Given the description of an element on the screen output the (x, y) to click on. 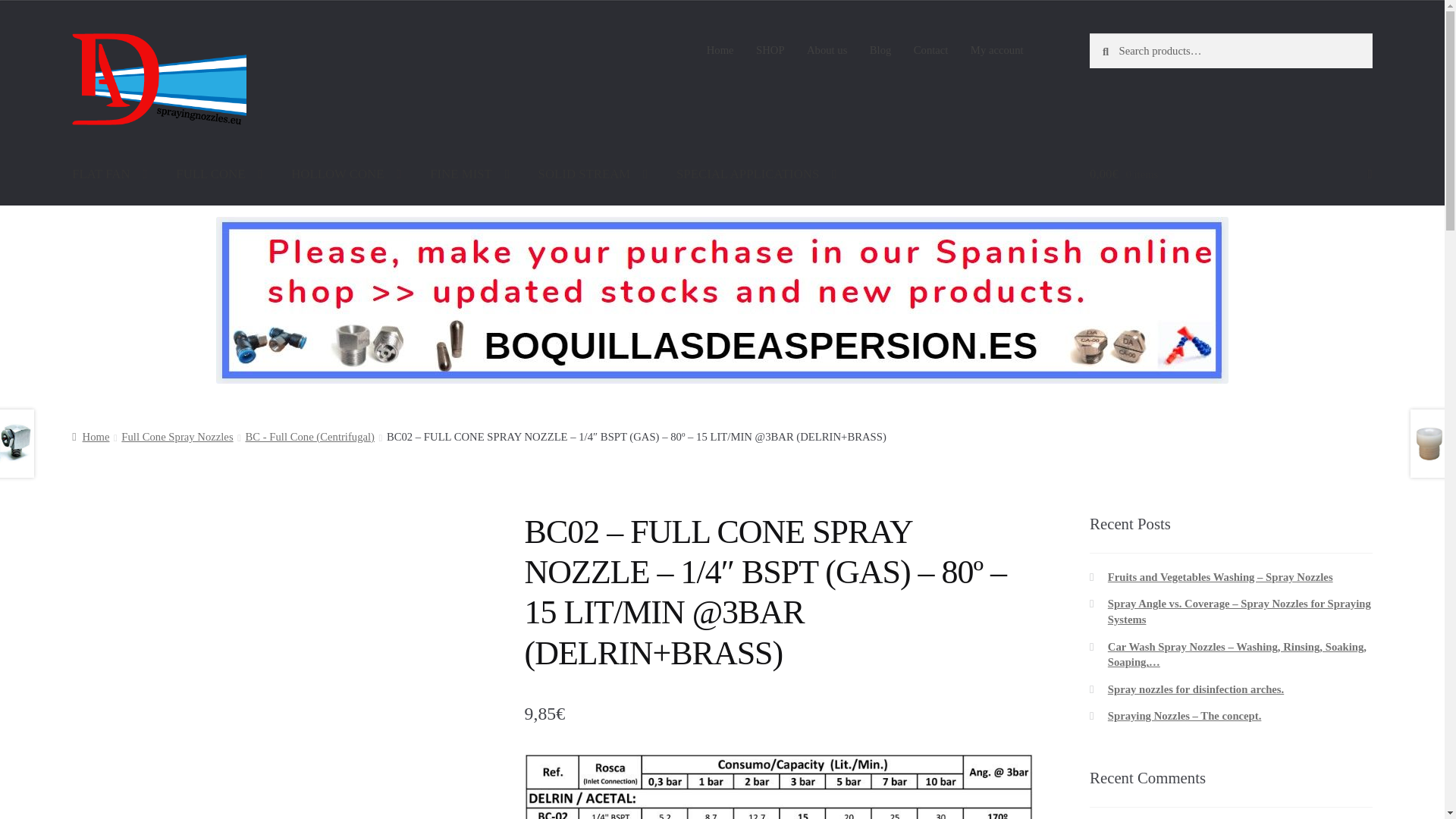
Blog (880, 49)
About us (826, 49)
View your shopping basket (1231, 173)
My account (996, 49)
HOLLOW CONE (345, 173)
SOLID STREAM (593, 173)
SPECIAL APPLICATIONS (755, 173)
FINE MIST (468, 173)
FLAT FAN (109, 173)
